Given the description of an element on the screen output the (x, y) to click on. 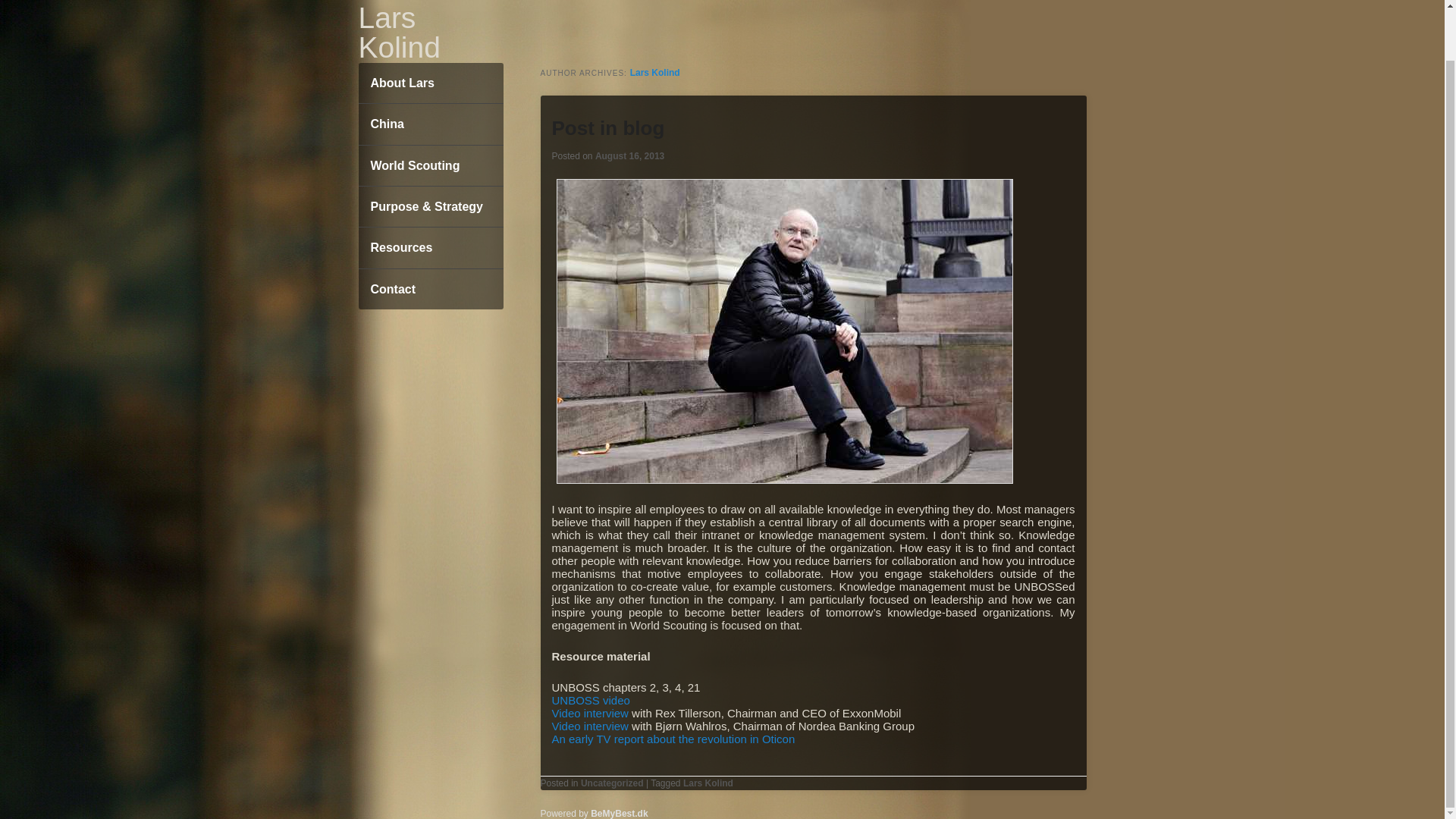
Skip to primary content (427, 83)
About Lars (430, 83)
Lars Kolind (398, 32)
Contact (430, 289)
Post in blog (608, 128)
Skip to secondary content (430, 103)
An early TV report about the revolution in Oticon (672, 738)
Lars Kolind (398, 32)
Video interview (589, 725)
Resources (430, 247)
6:44 pm (629, 155)
UNBOSS video (590, 699)
World Scouting (430, 165)
Skip to secondary content (430, 103)
Lars Kolind (654, 72)
